Given the description of an element on the screen output the (x, y) to click on. 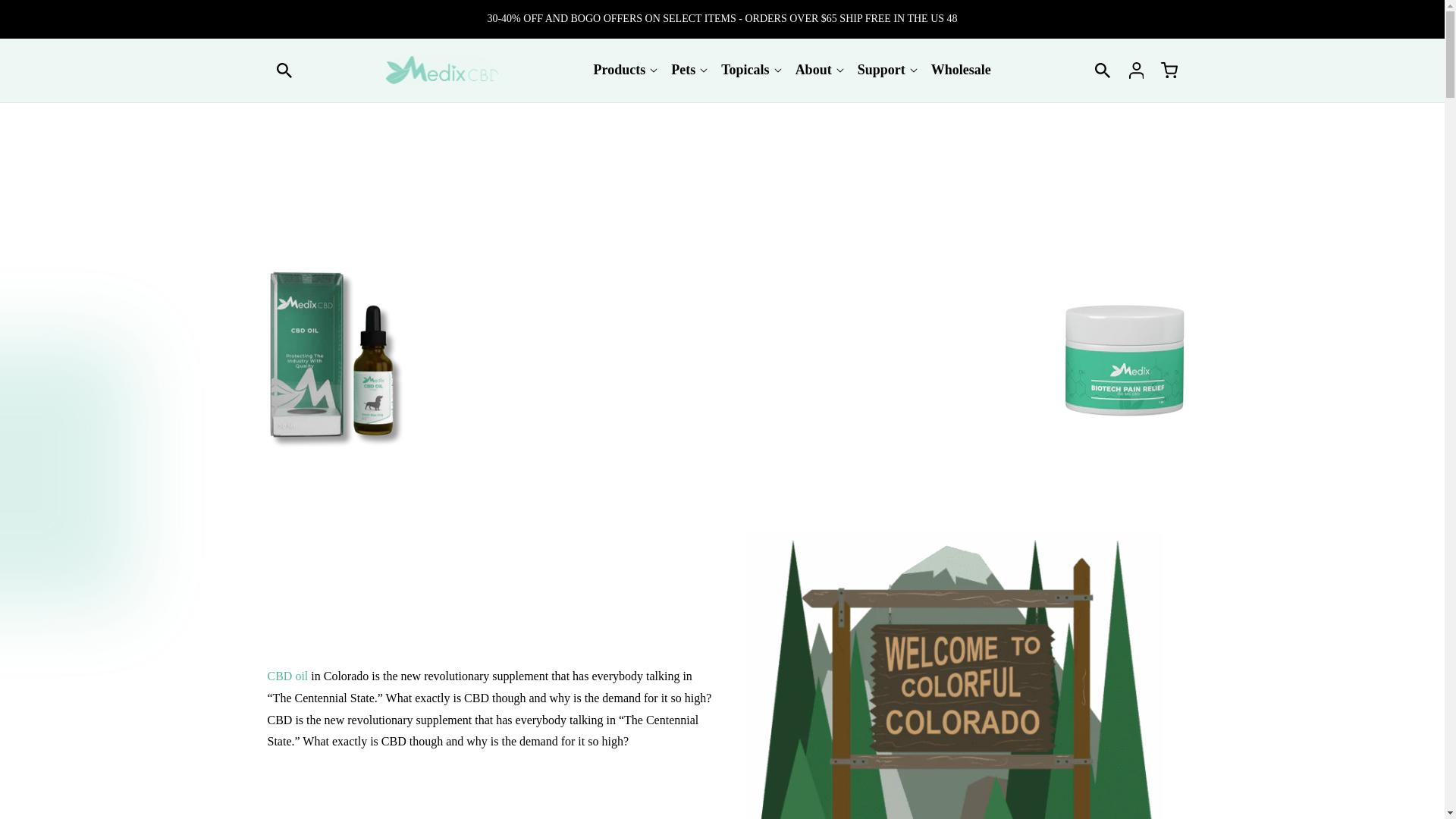
Wholesale (960, 69)
Skip to content (45, 16)
Log in (1136, 70)
CBD Oils (286, 675)
